Given the description of an element on the screen output the (x, y) to click on. 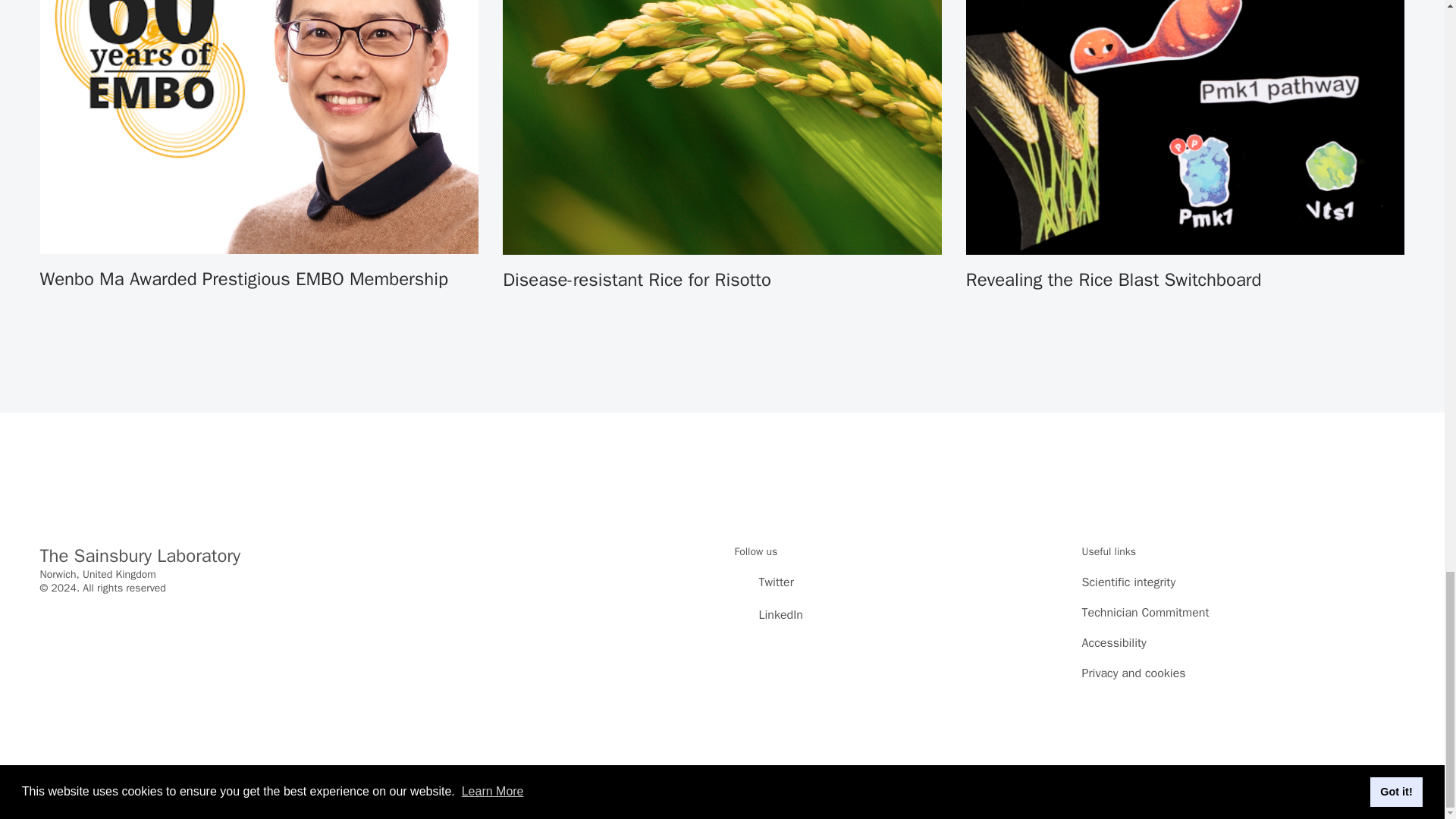
Twitter (763, 584)
Scientific integrity (1127, 581)
Technician Commitment (1144, 612)
Disease-resistant Rice for Risotto (722, 145)
Wenbo Ma Awarded Prestigious EMBO Membership (259, 145)
Privacy and cookies (1133, 672)
Revealing the Rice Blast Switchboard (1185, 145)
Accessibility (1113, 642)
LinkedIn (767, 616)
